Given the description of an element on the screen output the (x, y) to click on. 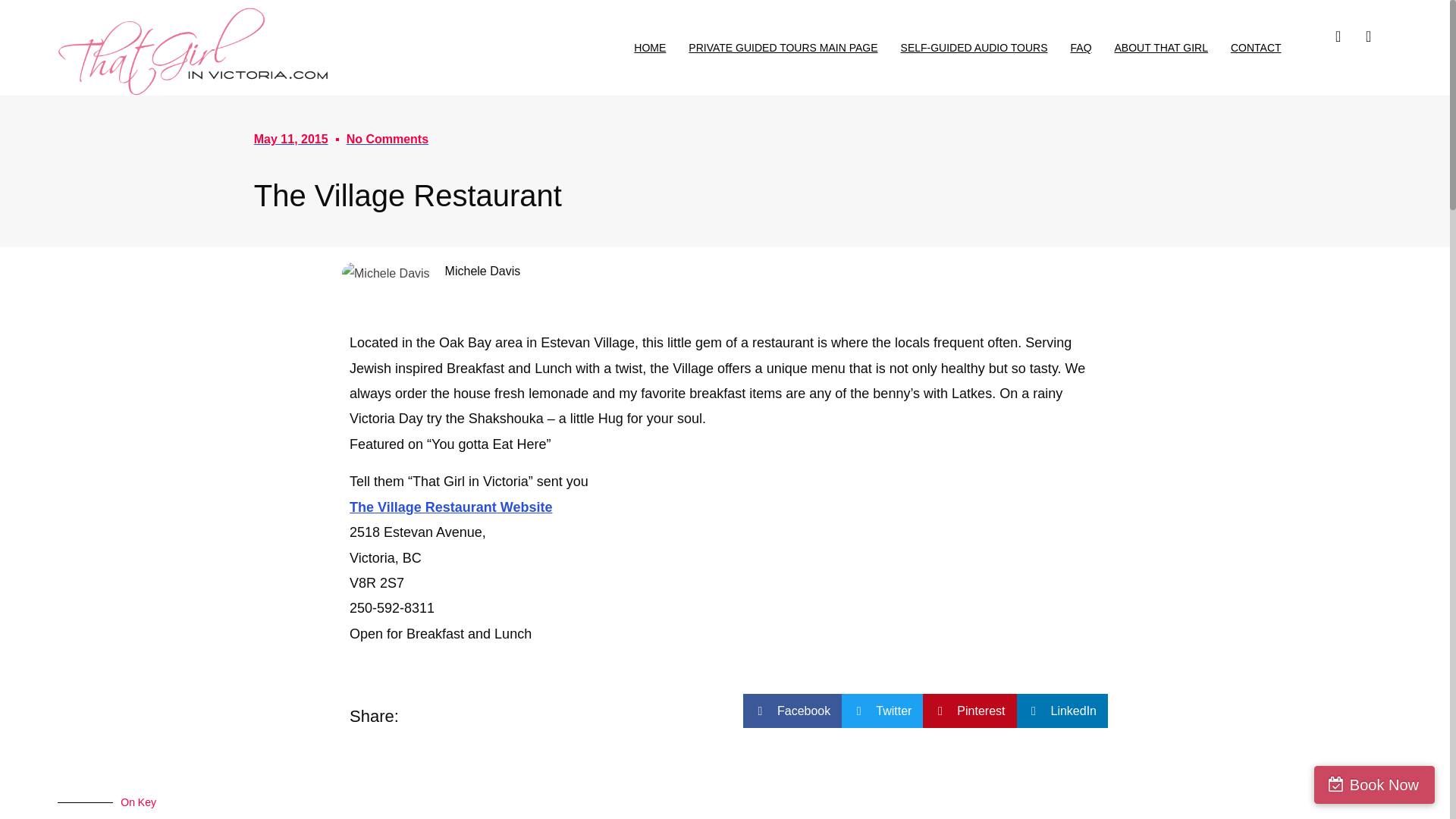
ABOUT THAT GIRL (1161, 47)
The Village Restaurant Website (450, 507)
No Comments (387, 138)
CONTACT (1256, 47)
HOME (650, 47)
PRIVATE GUIDED TOURS MAIN PAGE (782, 47)
May 11, 2015 (291, 138)
SELF-GUIDED AUDIO TOURS (974, 47)
